Given the description of an element on the screen output the (x, y) to click on. 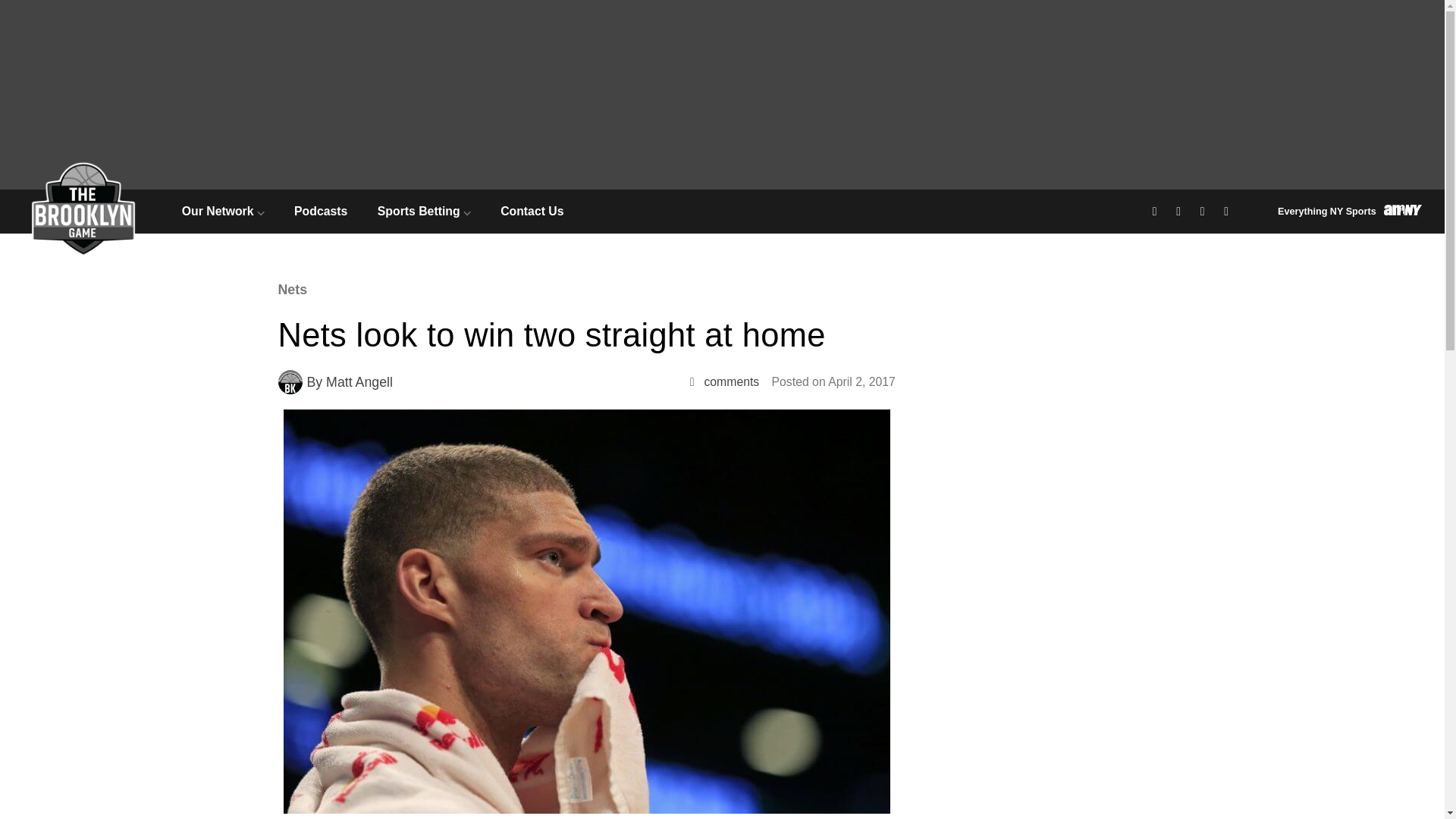
Podcasts (320, 210)
Posts by Matt Angell (359, 381)
Our Network (223, 210)
Everything NY Sports (1350, 210)
Sports Betting (423, 210)
Contact Us (531, 210)
